Given the description of an element on the screen output the (x, y) to click on. 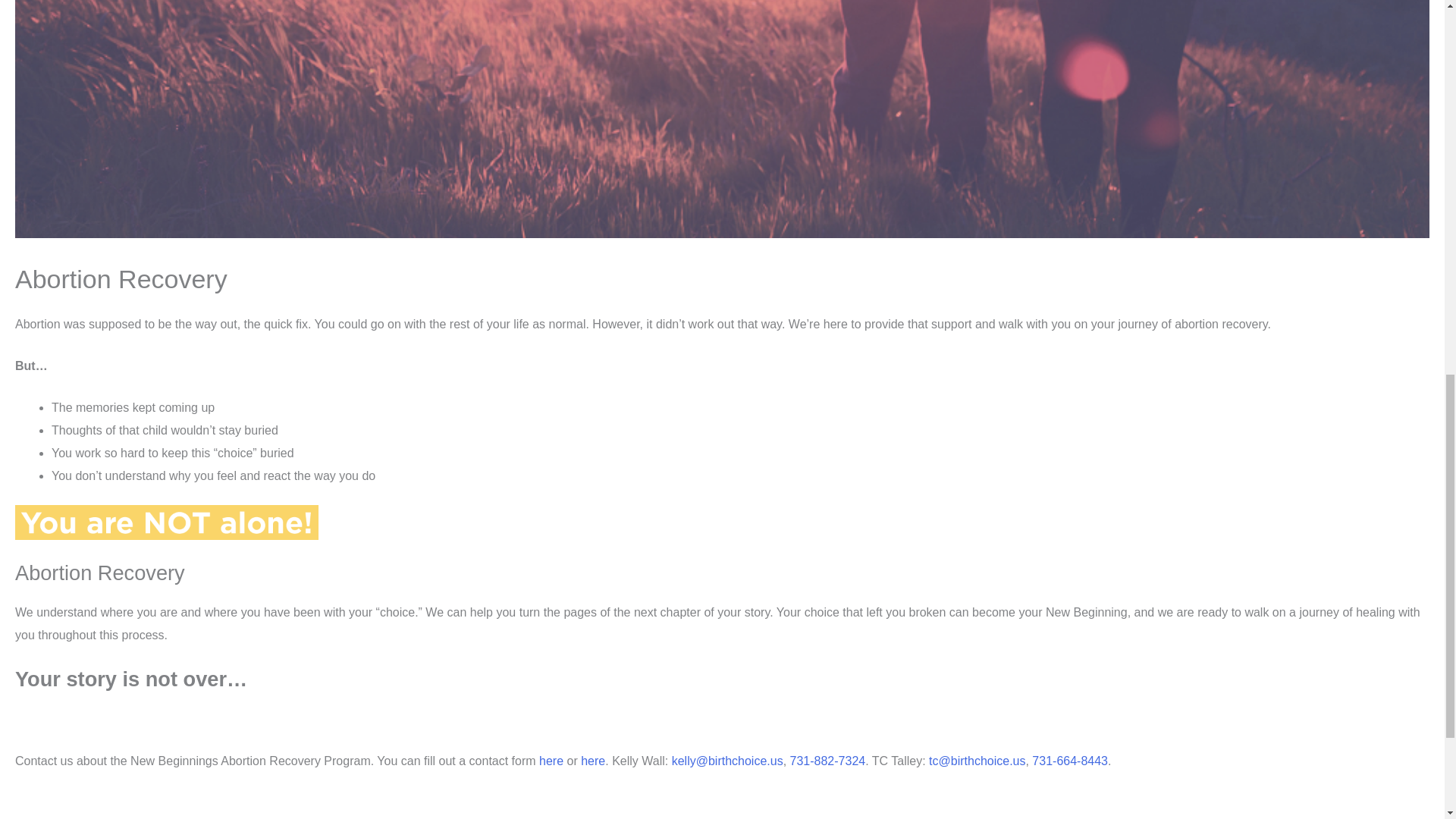
731-664-8443 (1070, 760)
731-882-7324 (828, 760)
here (592, 760)
here (550, 760)
